Given the description of an element on the screen output the (x, y) to click on. 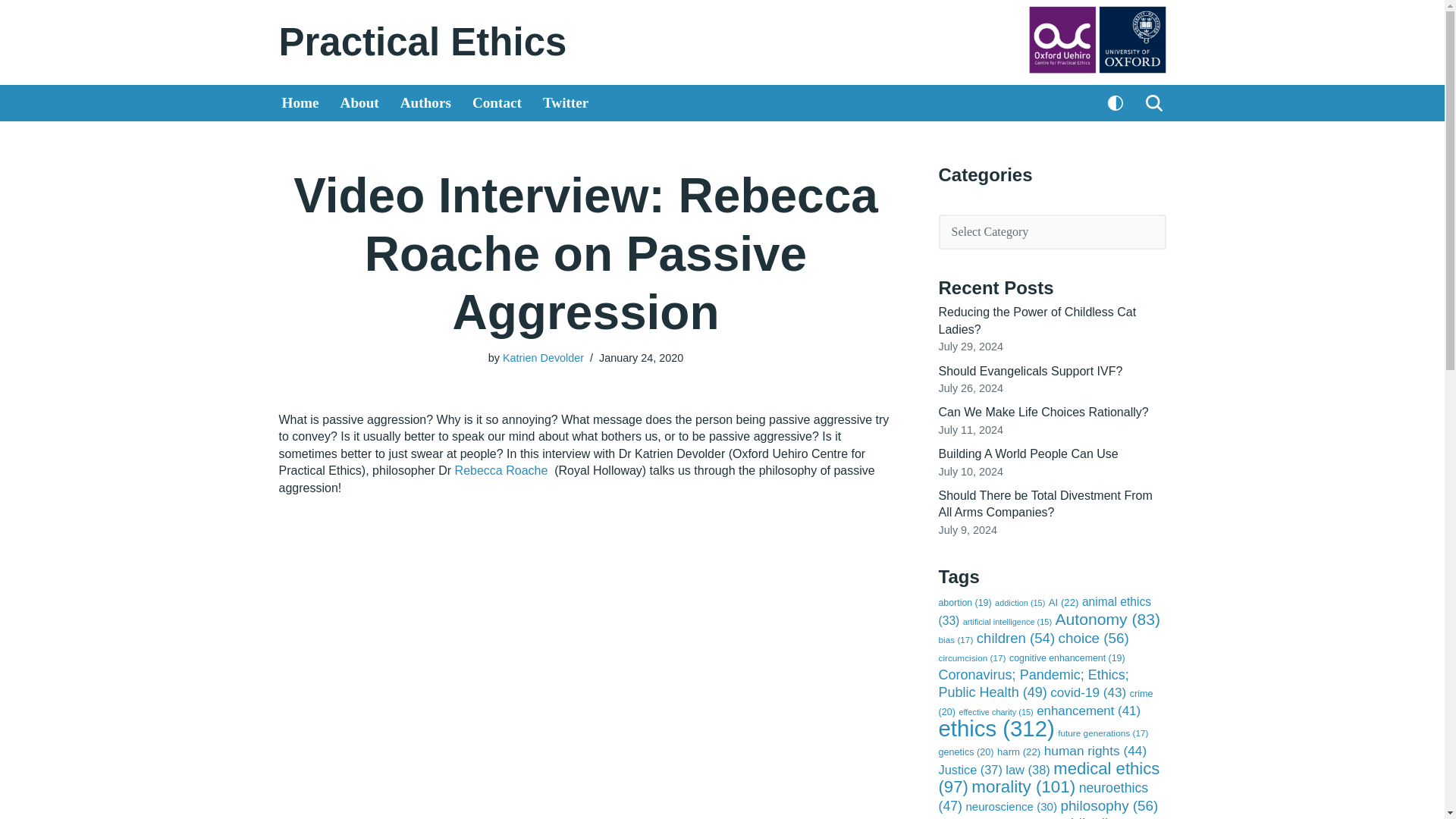
Building A World People Can Use (1028, 453)
Authors (425, 102)
Should There be Total Divestment From All Arms Companies? (1046, 503)
Rebecca Roache (501, 470)
Home (300, 102)
Rebecca Roache (501, 470)
Posts by Katrien Devolder (542, 357)
Reducing the Power of Childless Cat Ladies? (1038, 319)
Twitter (565, 102)
Can We Make Life Choices Rationally? (1043, 411)
Practical Ethics (423, 41)
Katrien Devolder (542, 357)
Should Evangelicals Support IVF? (1030, 370)
About (359, 102)
